Given the description of an element on the screen output the (x, y) to click on. 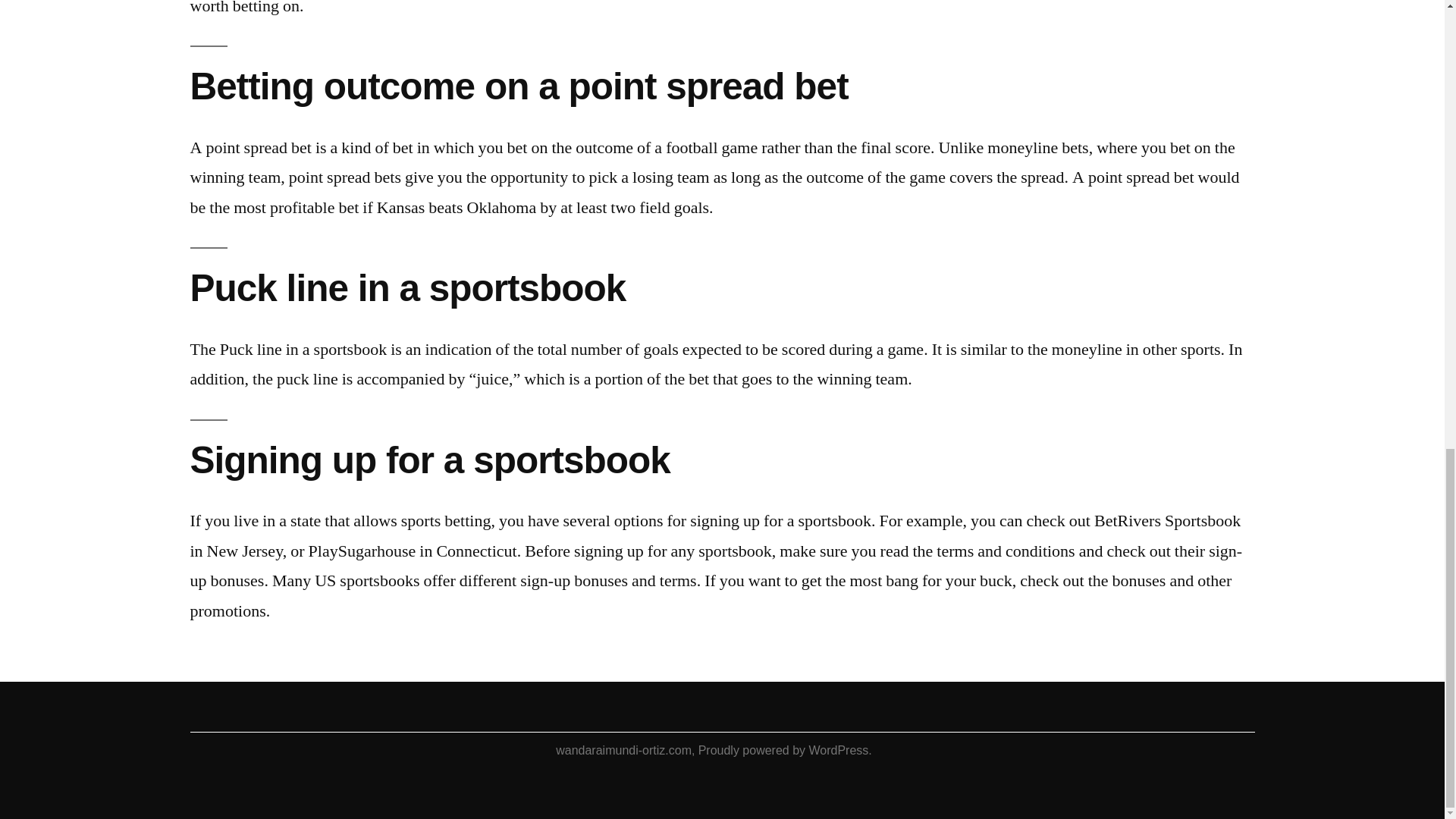
Proudly powered by WordPress. (785, 749)
wandaraimundi-ortiz.com (623, 749)
